Given the description of an element on the screen output the (x, y) to click on. 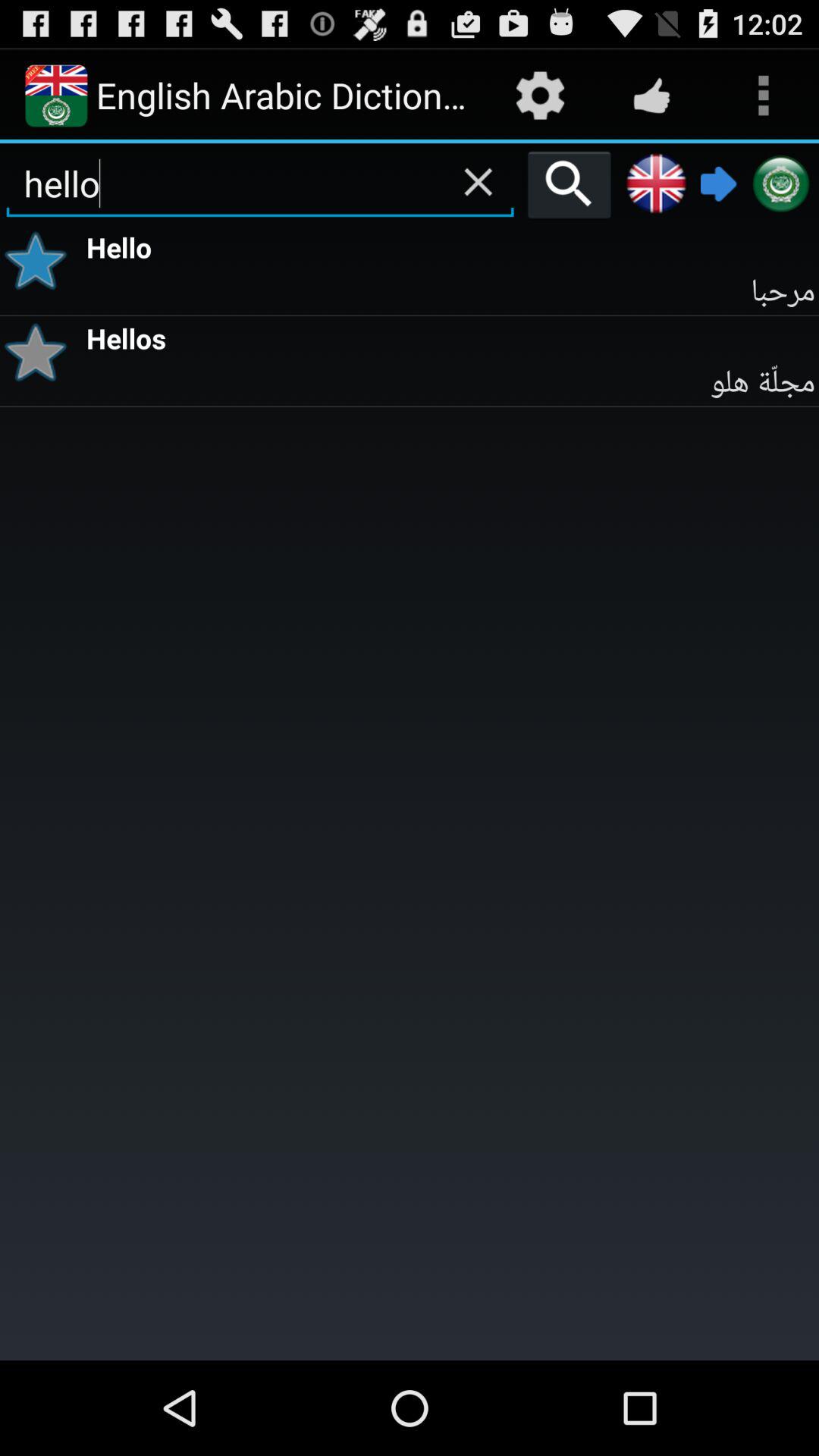
click to search (569, 184)
